Given the description of an element on the screen output the (x, y) to click on. 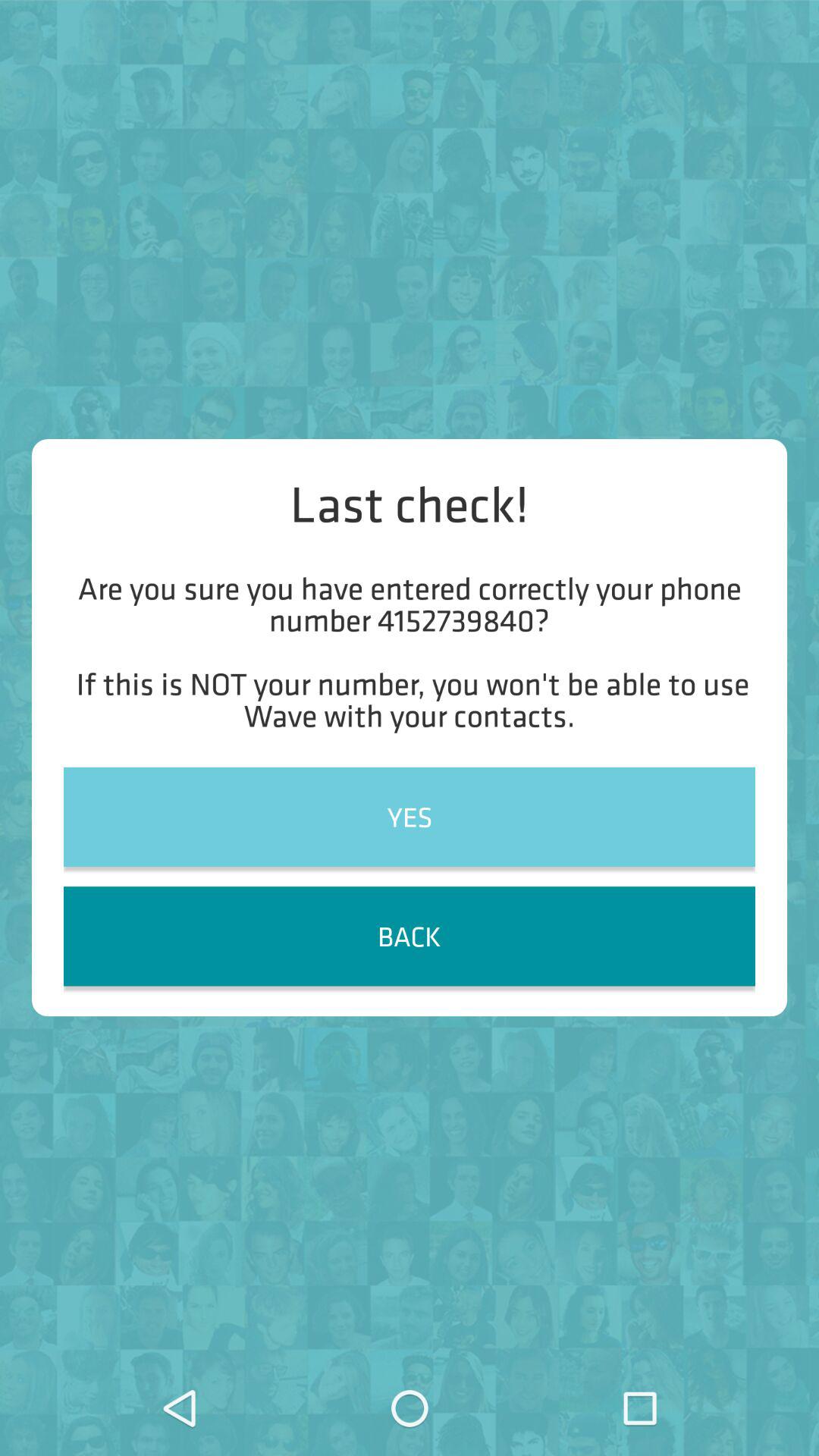
turn off item below yes item (409, 936)
